Given the description of an element on the screen output the (x, y) to click on. 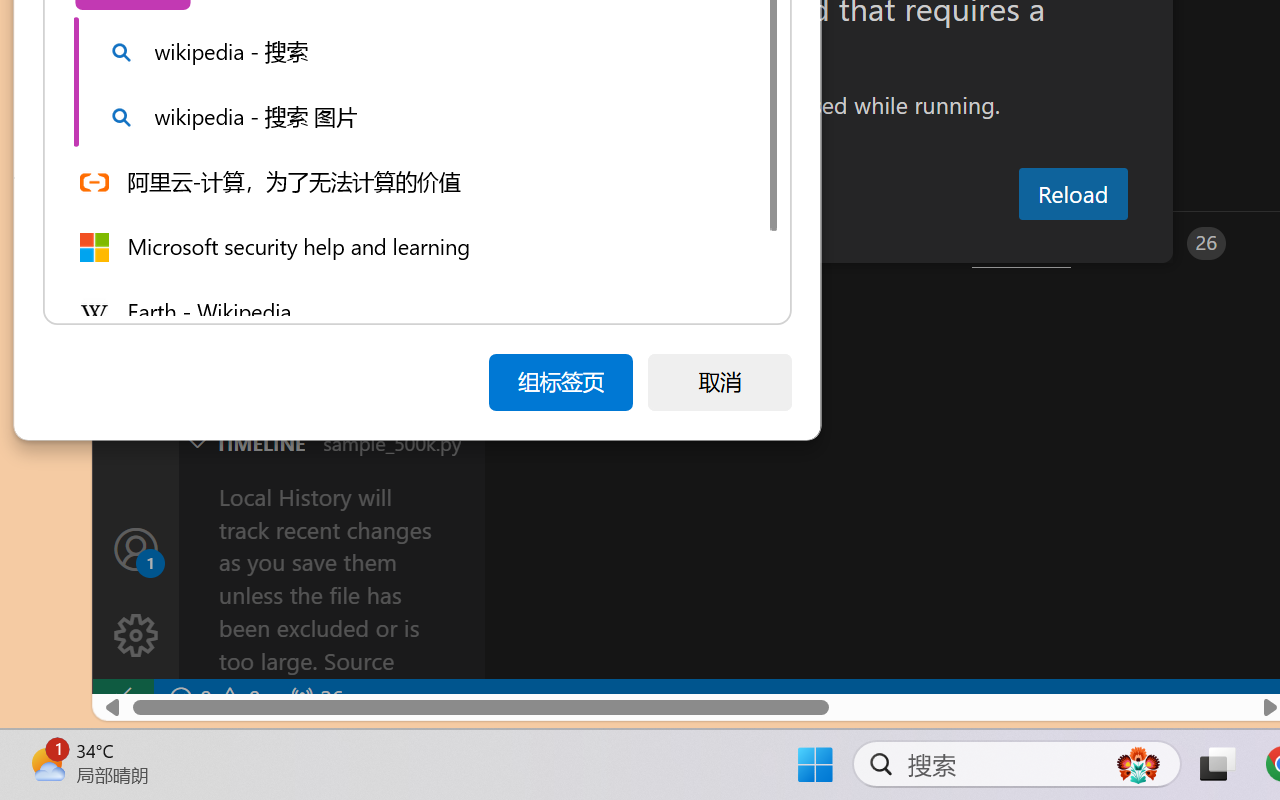
No Problems (212, 698)
Debug Console (Ctrl+Shift+Y) (854, 243)
Reload (1071, 193)
remote (122, 698)
Terminal (Ctrl+`) (1021, 243)
Problems (Ctrl+Shift+M) (567, 243)
Accounts - Sign in requested (135, 548)
